Given the description of an element on the screen output the (x, y) to click on. 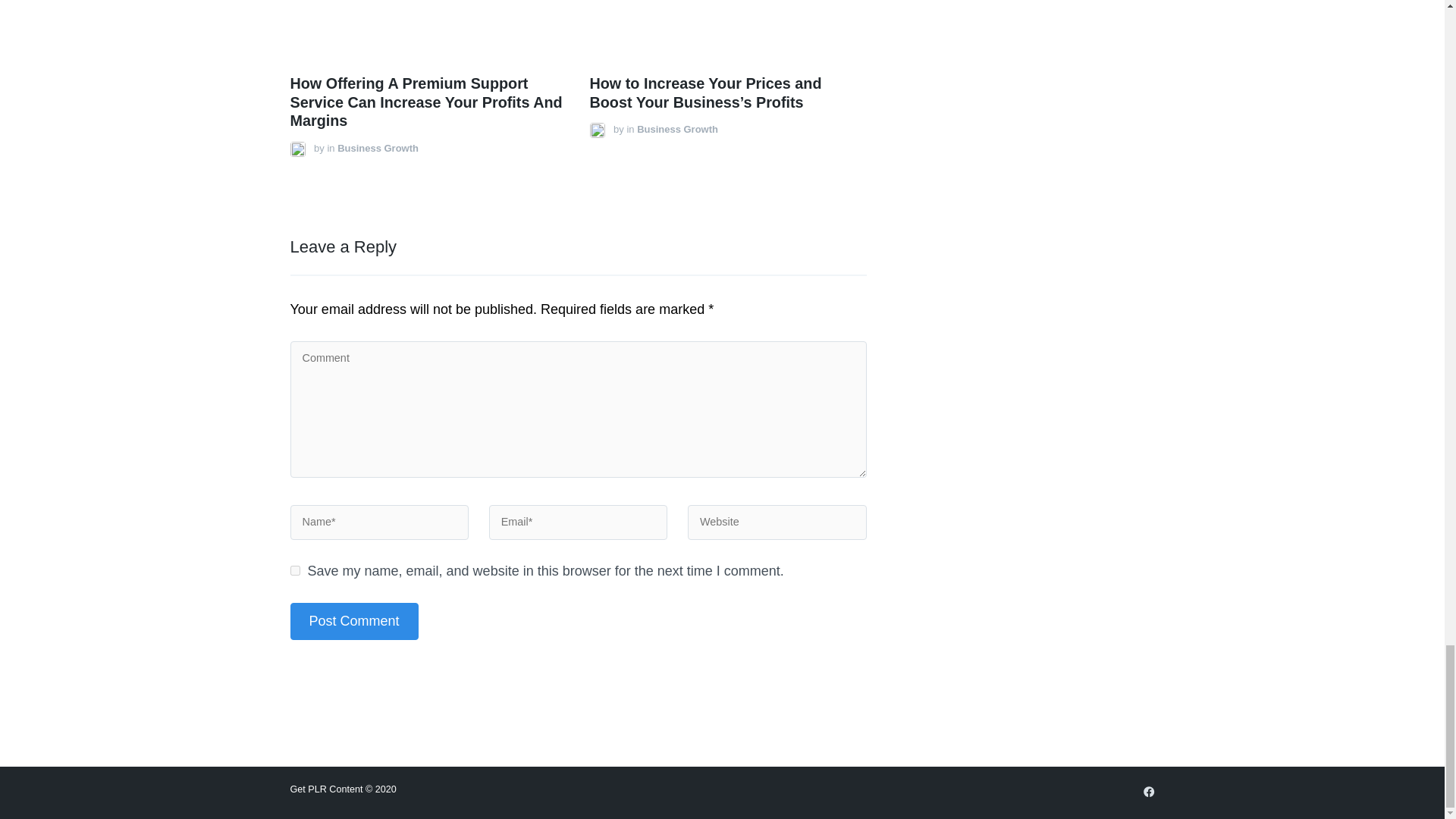
Post Comment (353, 620)
yes (294, 570)
